Given the description of an element on the screen output the (x, y) to click on. 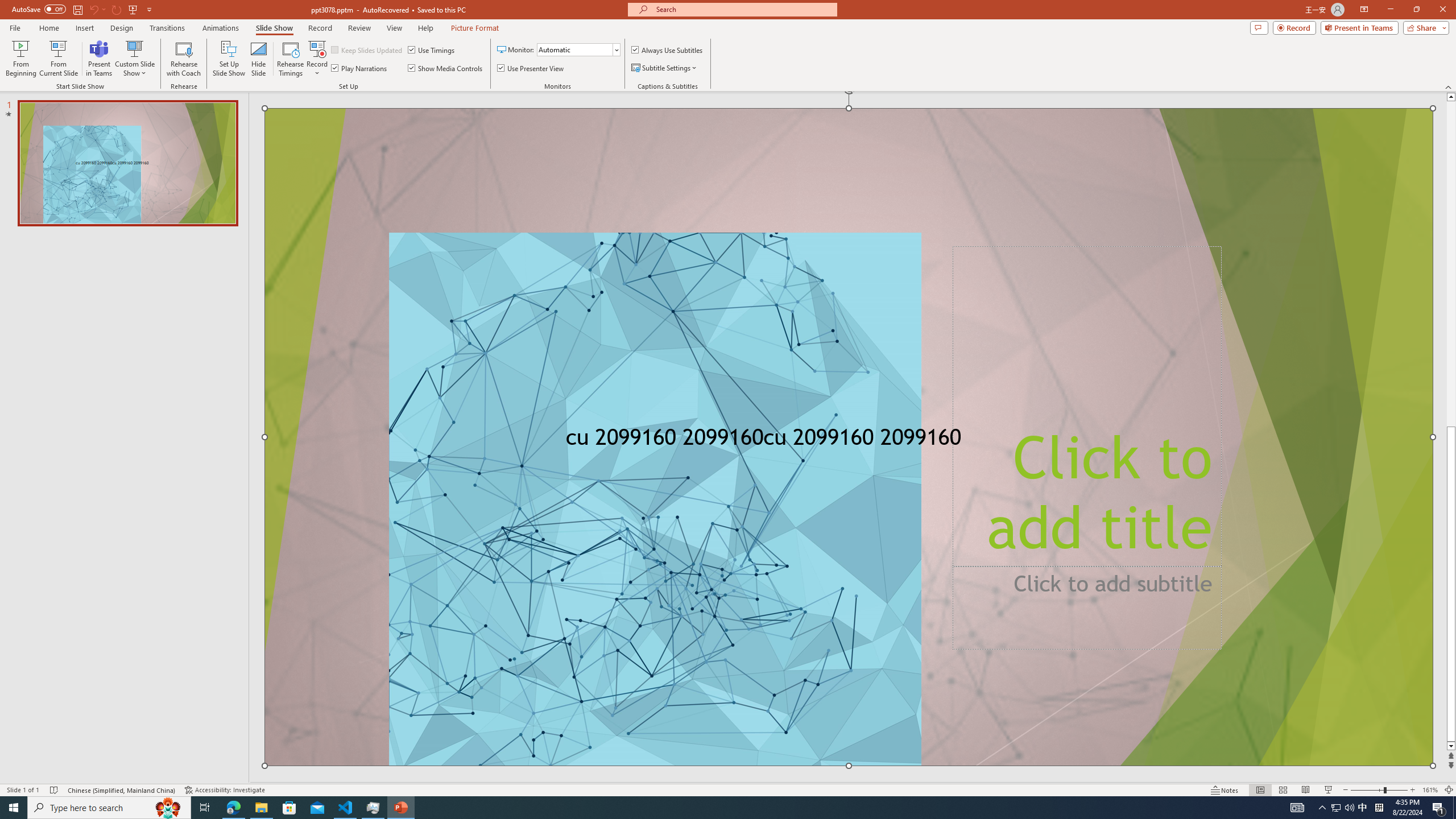
Picture Format (475, 28)
Hide Slide (258, 58)
